Given the description of an element on the screen output the (x, y) to click on. 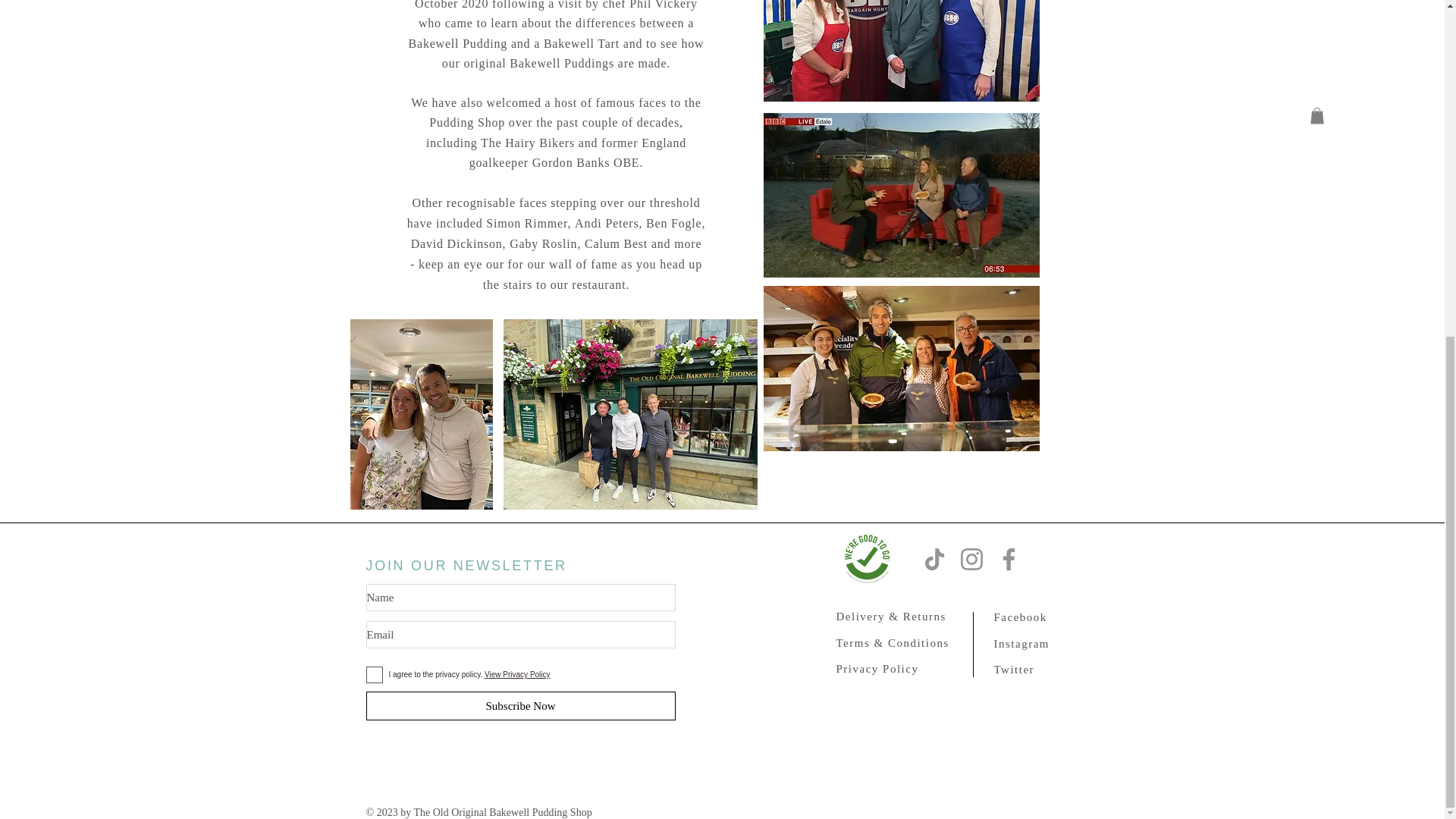
Facebook (1019, 616)
View Privacy Policy (517, 674)
Instagram (1020, 642)
Privacy Policy (876, 667)
Twitter (1012, 668)
Subscribe Now (520, 705)
